Given the description of an element on the screen output the (x, y) to click on. 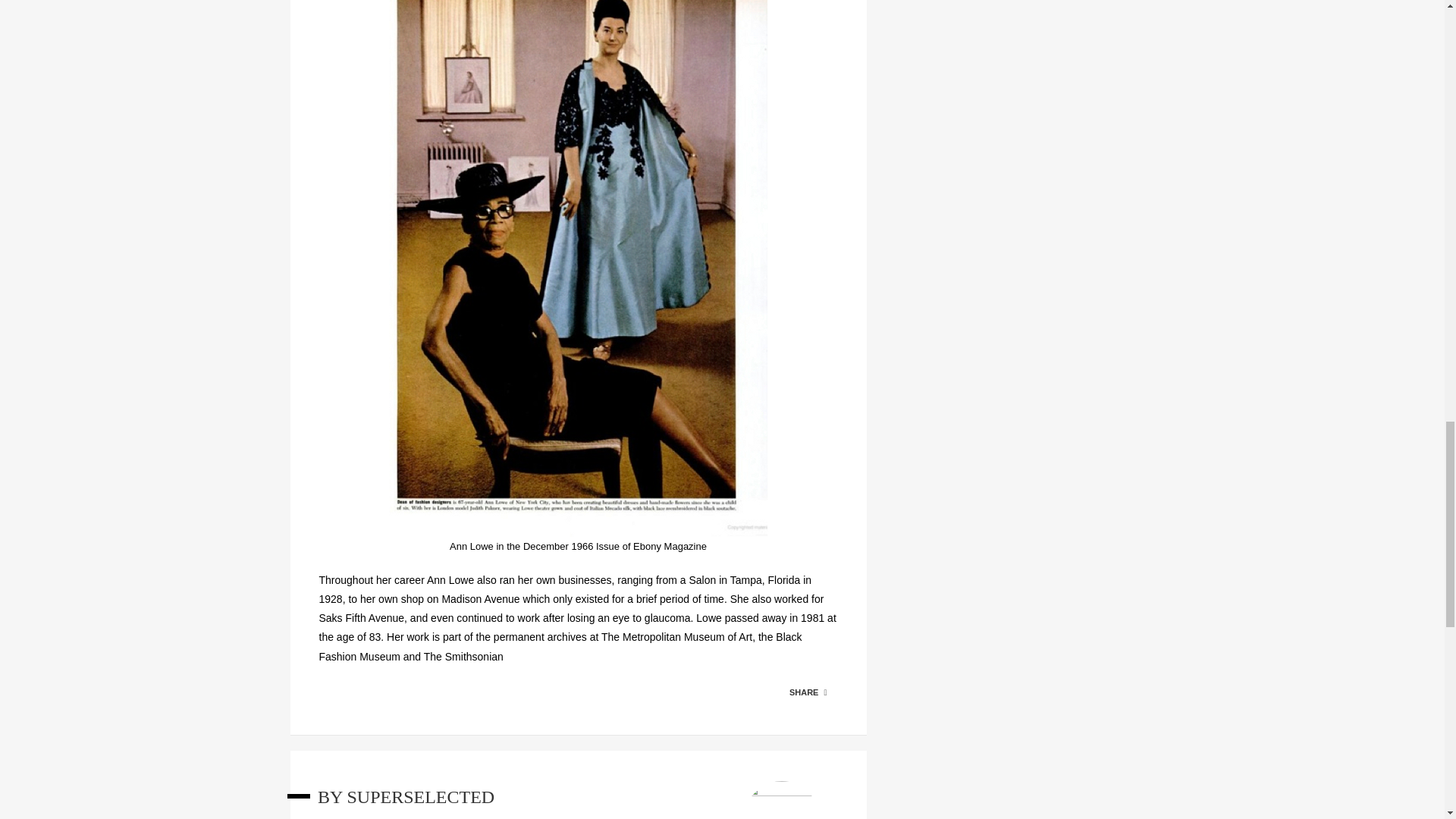
superselected (420, 796)
